Given the description of an element on the screen output the (x, y) to click on. 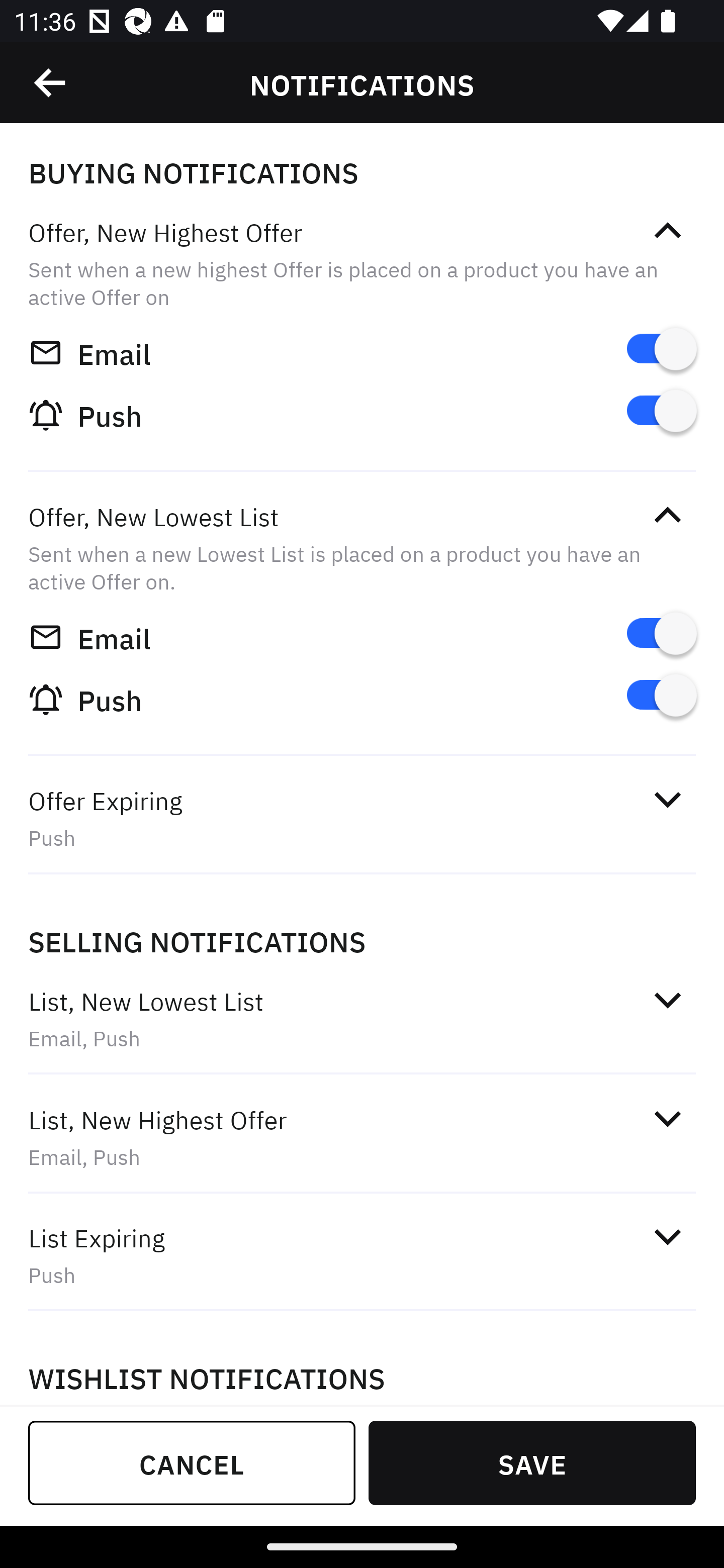
 (50, 83)
 (667, 231)
 (667, 514)
Offer Expiring  Push (361, 818)
 (667, 799)
List, New Lowest List  Email, Push (361, 1018)
 (667, 999)
List, New Highest Offer  Email, Push (361, 1137)
 (667, 1118)
List Expiring  Push (361, 1254)
 (667, 1236)
CANCEL (191, 1462)
SAVE (531, 1462)
